Given the description of an element on the screen output the (x, y) to click on. 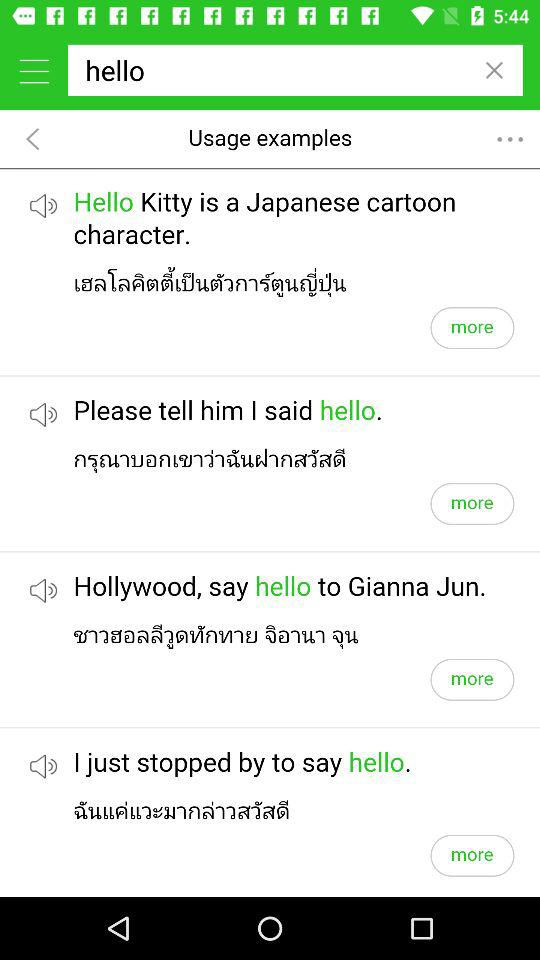
menu (33, 70)
